Given the description of an element on the screen output the (x, y) to click on. 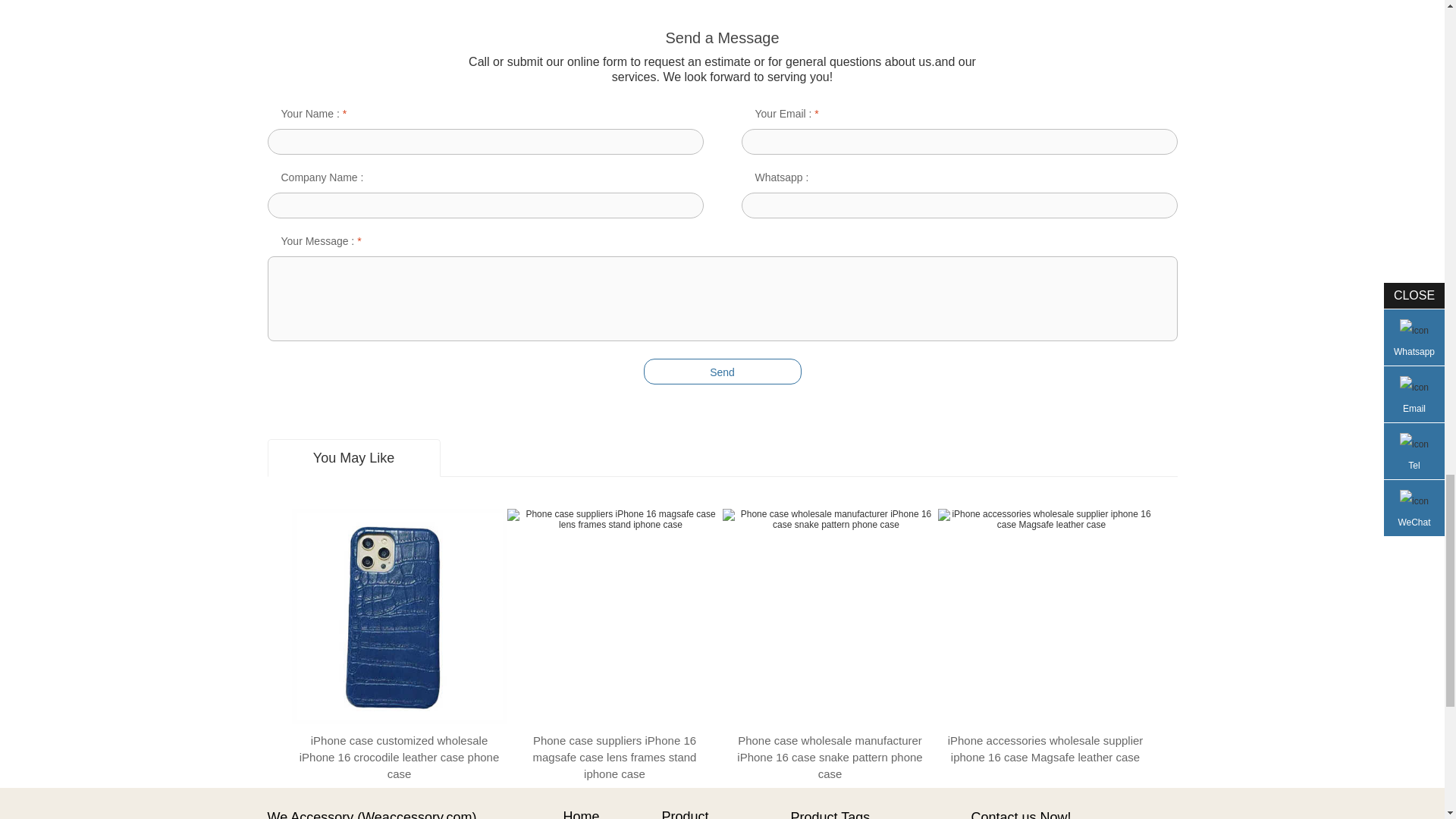
Send (721, 371)
